Given the description of an element on the screen output the (x, y) to click on. 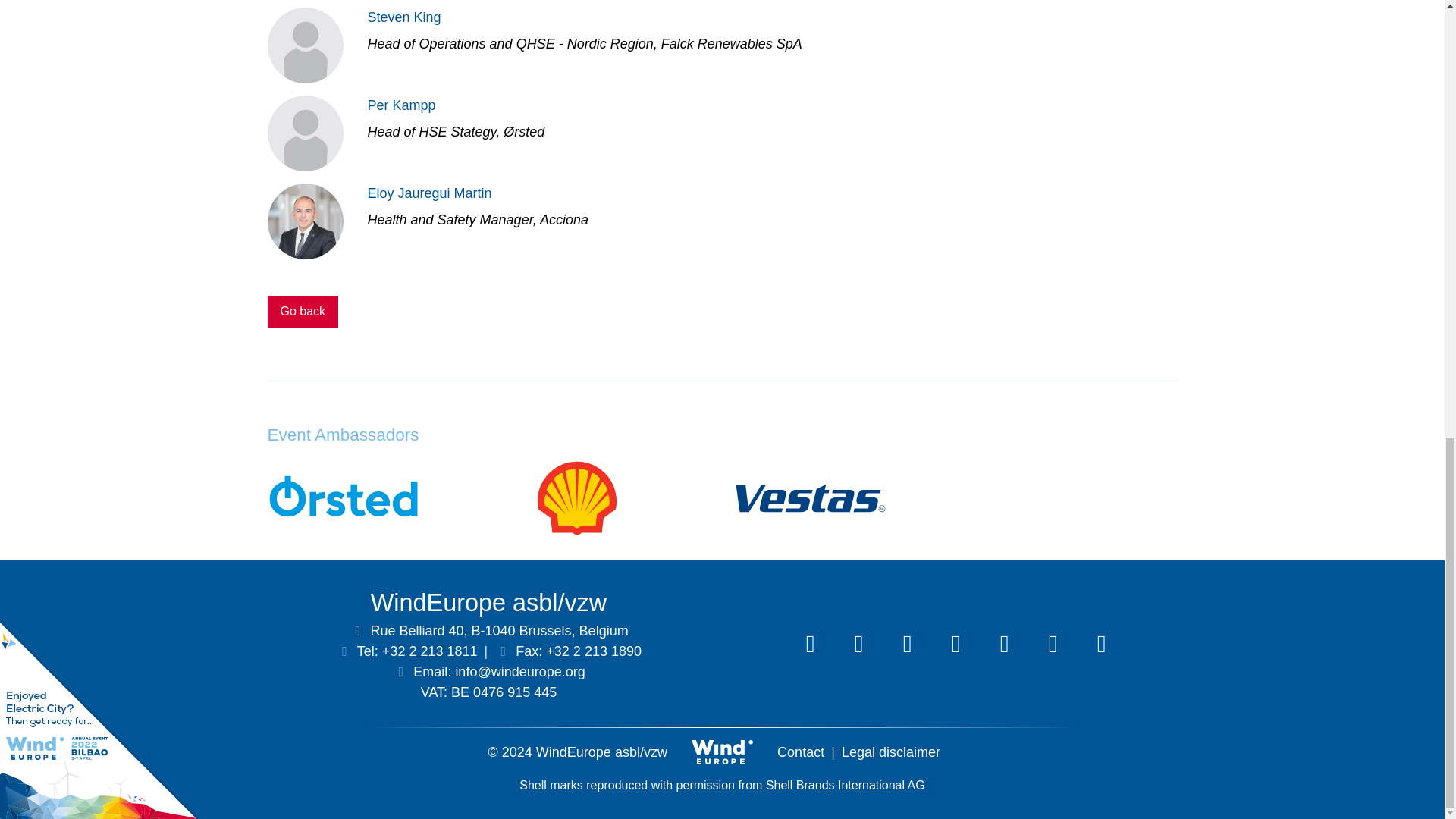
Click here to see our photos on Flickr (1051, 643)
Click here to visit our official Instagram account (1101, 643)
Click here to visit our events Twitter account (906, 643)
Click here to visit our official Twitter account (858, 643)
Click here to visit our LinkedIn page (810, 643)
Click here to see our videos on YouTube (1003, 643)
Click here to visit our Facebook page (955, 643)
